Given the description of an element on the screen output the (x, y) to click on. 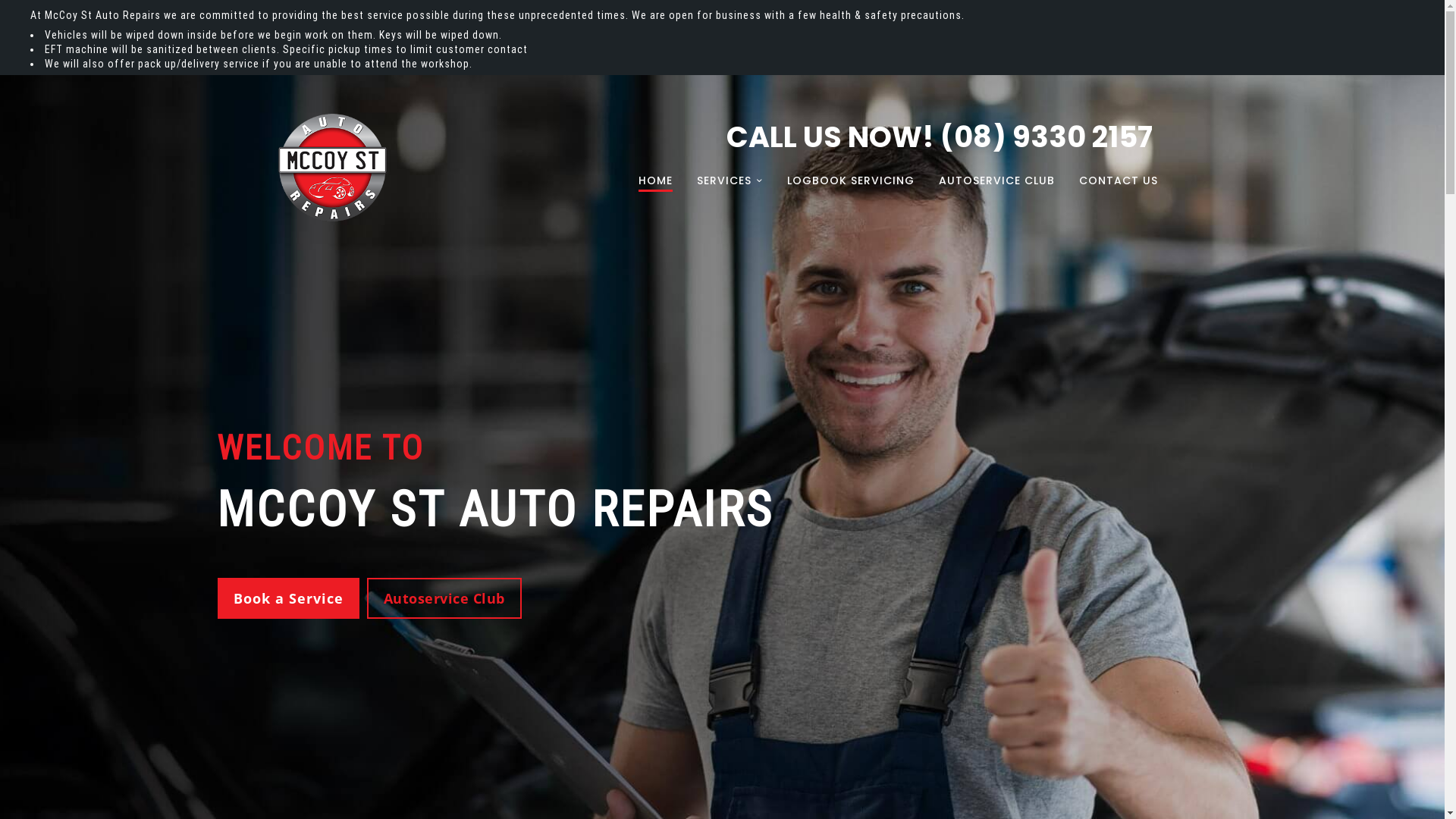
CONTACT US Element type: text (1117, 180)
HOME Element type: text (655, 180)
AUTOSERVICE CLUB Element type: text (996, 180)
LOGBOOK SERVICING Element type: text (850, 180)
Autoservice Club Element type: text (444, 597)
(08) 9330 2157 Element type: text (1046, 136)
Book a Service Element type: text (288, 597)
SERVICES Element type: text (729, 180)
